Given the description of an element on the screen output the (x, y) to click on. 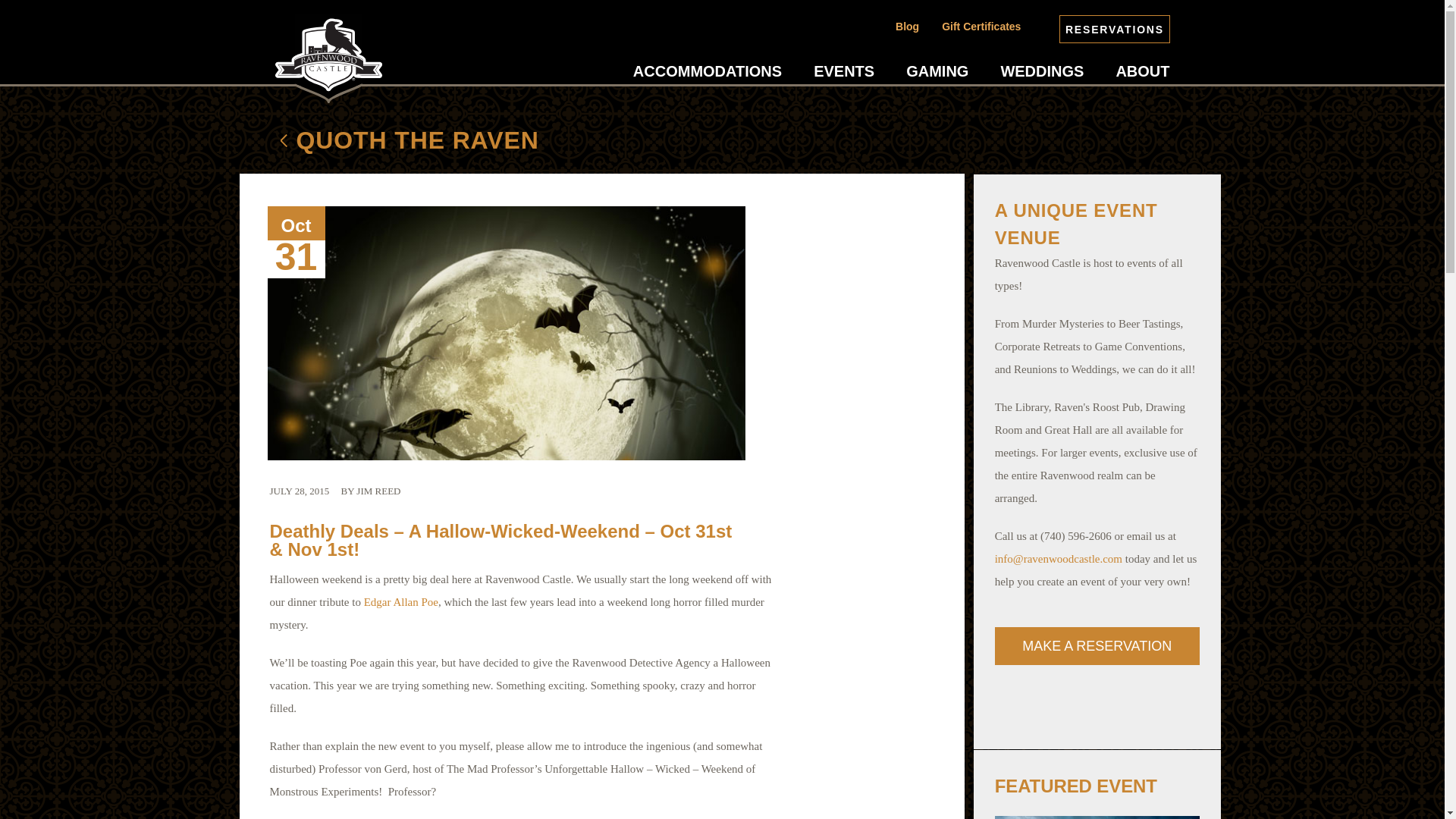
RESERVATIONS (1114, 29)
QUOTH THE RAVEN (381, 142)
ABOUT (1142, 71)
JIM REED (378, 490)
EVENTS (844, 71)
Gift Certificates (981, 26)
Blog (906, 26)
ACCOMMODATIONS (707, 71)
JULY 28, 2015 (299, 490)
GAMING (936, 71)
